Given the description of an element on the screen output the (x, y) to click on. 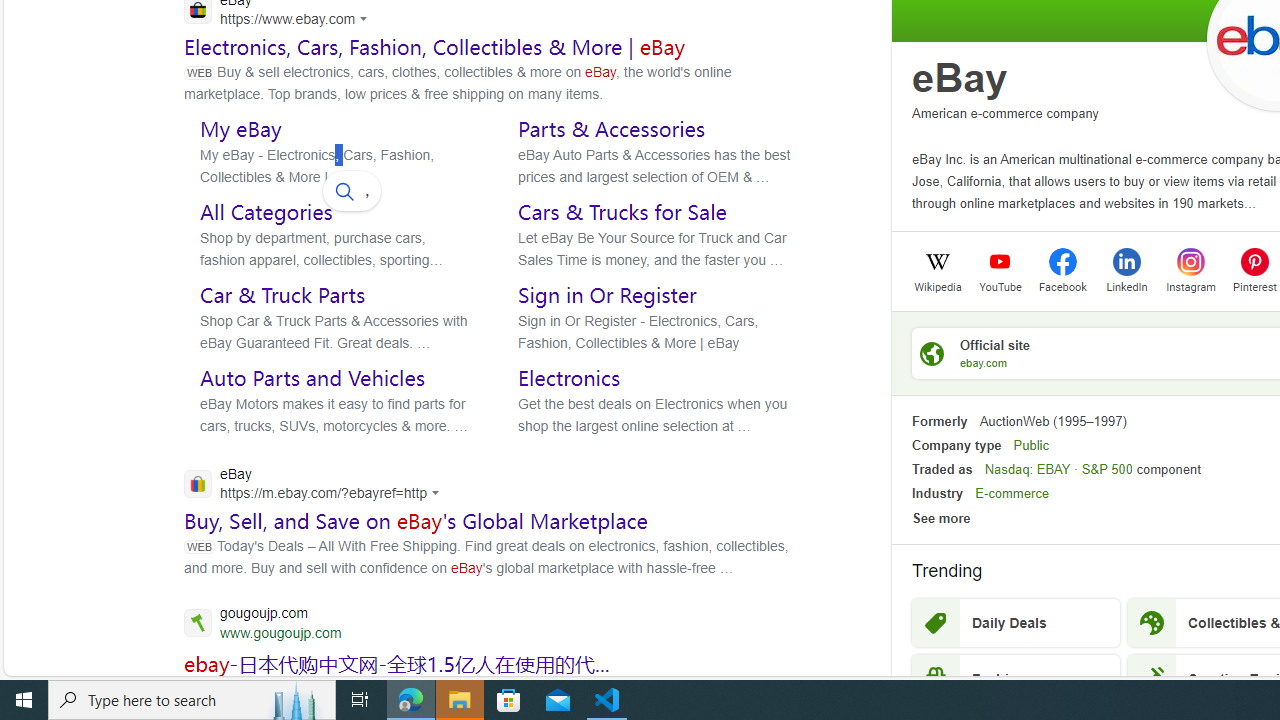
Actions for this site (438, 493)
Instagram (1190, 285)
Class: sp-ofsite (932, 353)
Global web icon (197, 483)
Wikipedia (937, 285)
Pinterest (1254, 261)
Daily Deals (1015, 623)
Sign in Or Register (607, 295)
Parts & Accessories (612, 128)
Buy, Sell, and Save on eBay's Global Marketplace (415, 521)
Industry (937, 493)
S&P 500 (1106, 469)
